Given the description of an element on the screen output the (x, y) to click on. 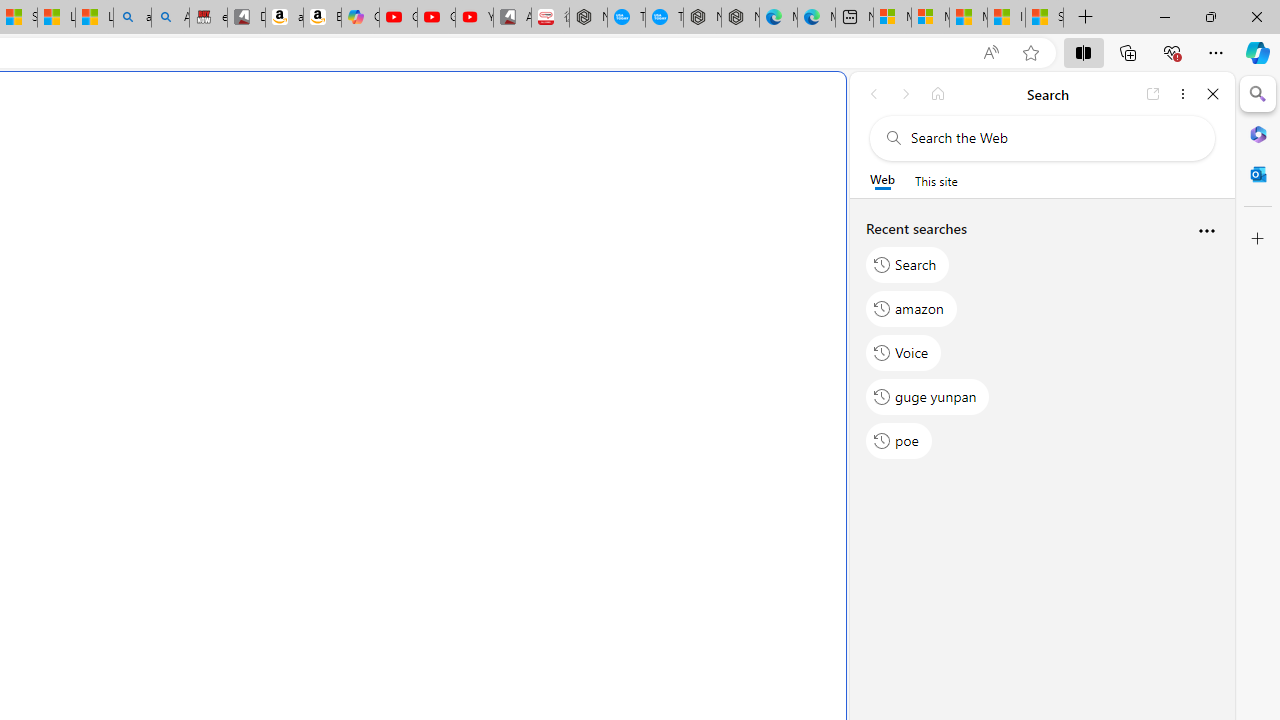
Forward (906, 93)
Gloom - YouTube (436, 17)
Microsoft Start (967, 17)
guge yunpan (927, 396)
More options (1206, 232)
Home (938, 93)
Nordace - Nordace has arrived Hong Kong (740, 17)
Voice (904, 352)
amazon (911, 308)
